Given the description of an element on the screen output the (x, y) to click on. 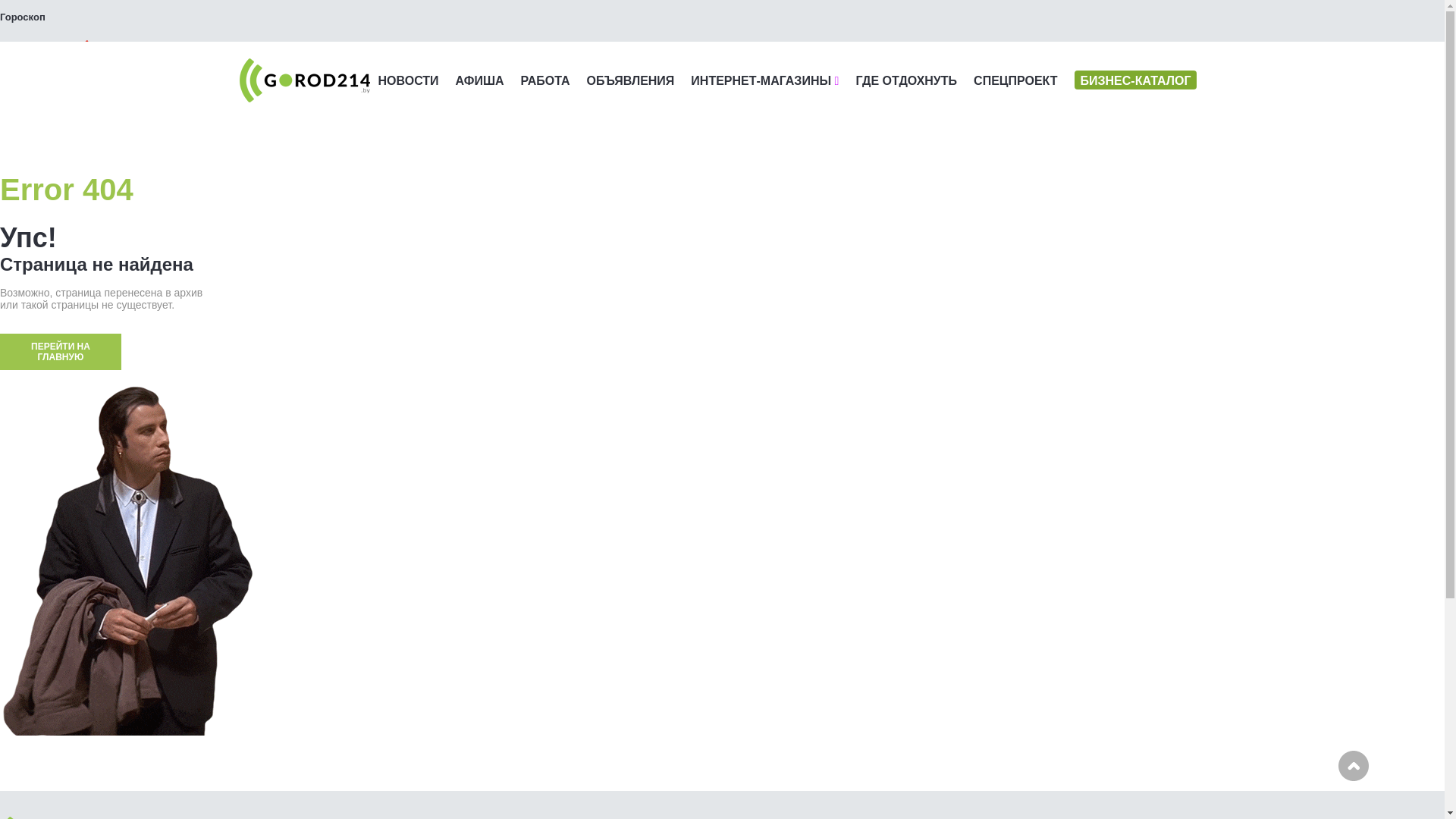
   Element type: text (49, 50)
